Given the description of an element on the screen output the (x, y) to click on. 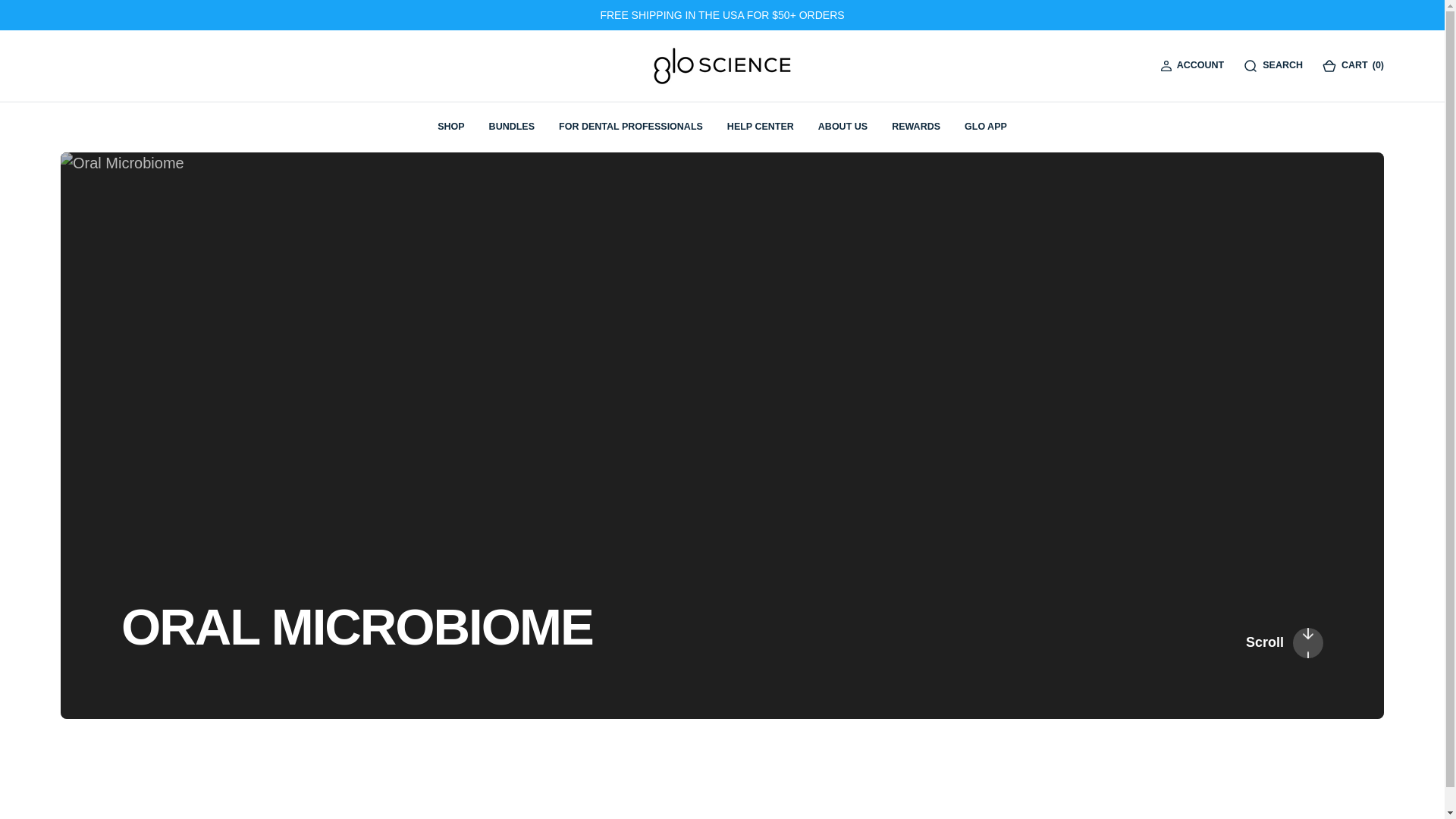
For Dental Professionals (631, 126)
SEARCH (1273, 65)
Search (1282, 66)
About Us (842, 126)
GLO App (985, 126)
SHOP (450, 127)
Search (1273, 65)
Help Center (759, 126)
Rewards (915, 126)
Account (1200, 66)
